Given the description of an element on the screen output the (x, y) to click on. 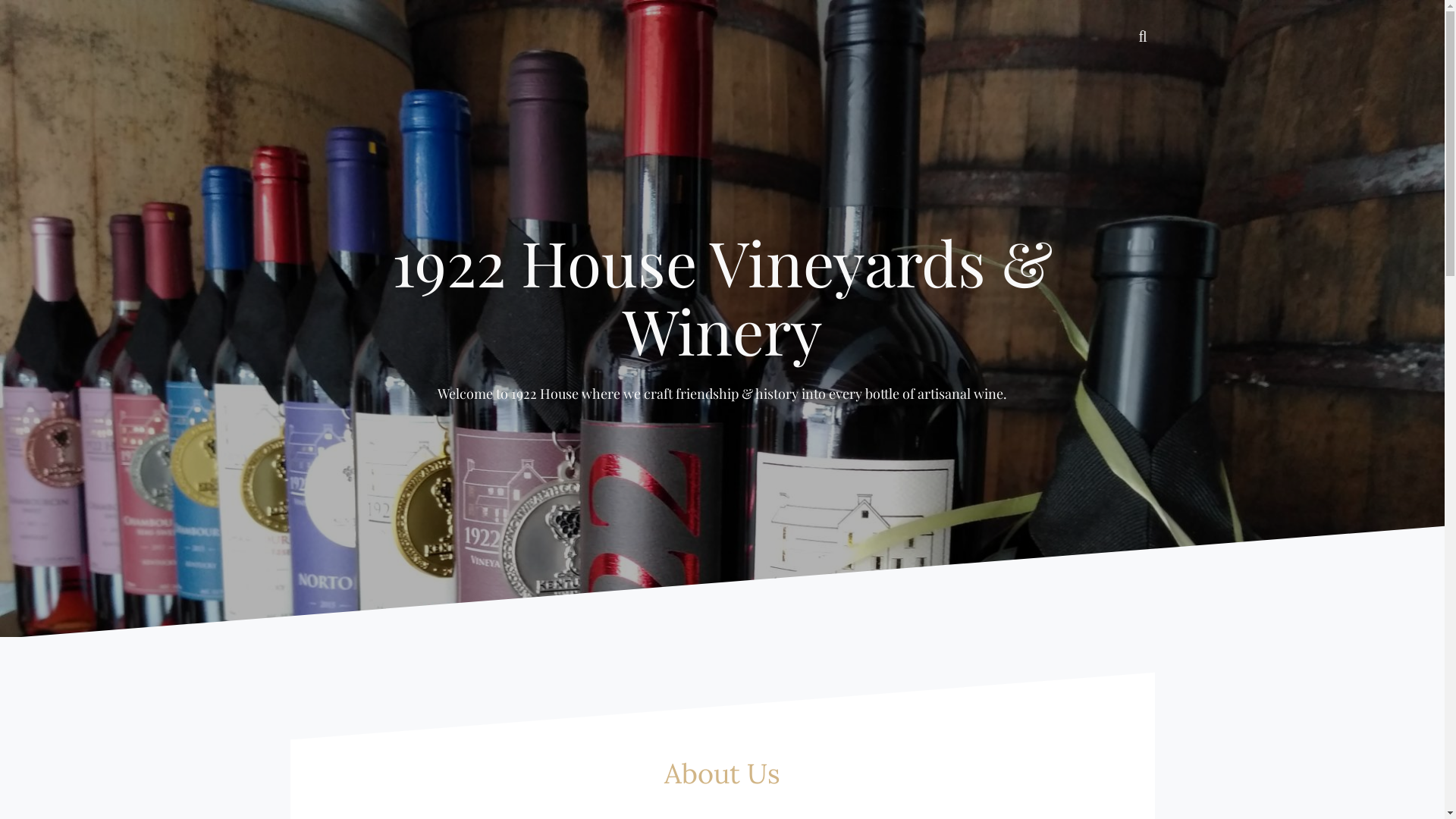
Search Element type: text (30, 20)
1922 House Vineyards & Winery Element type: text (721, 295)
